Given the description of an element on the screen output the (x, y) to click on. 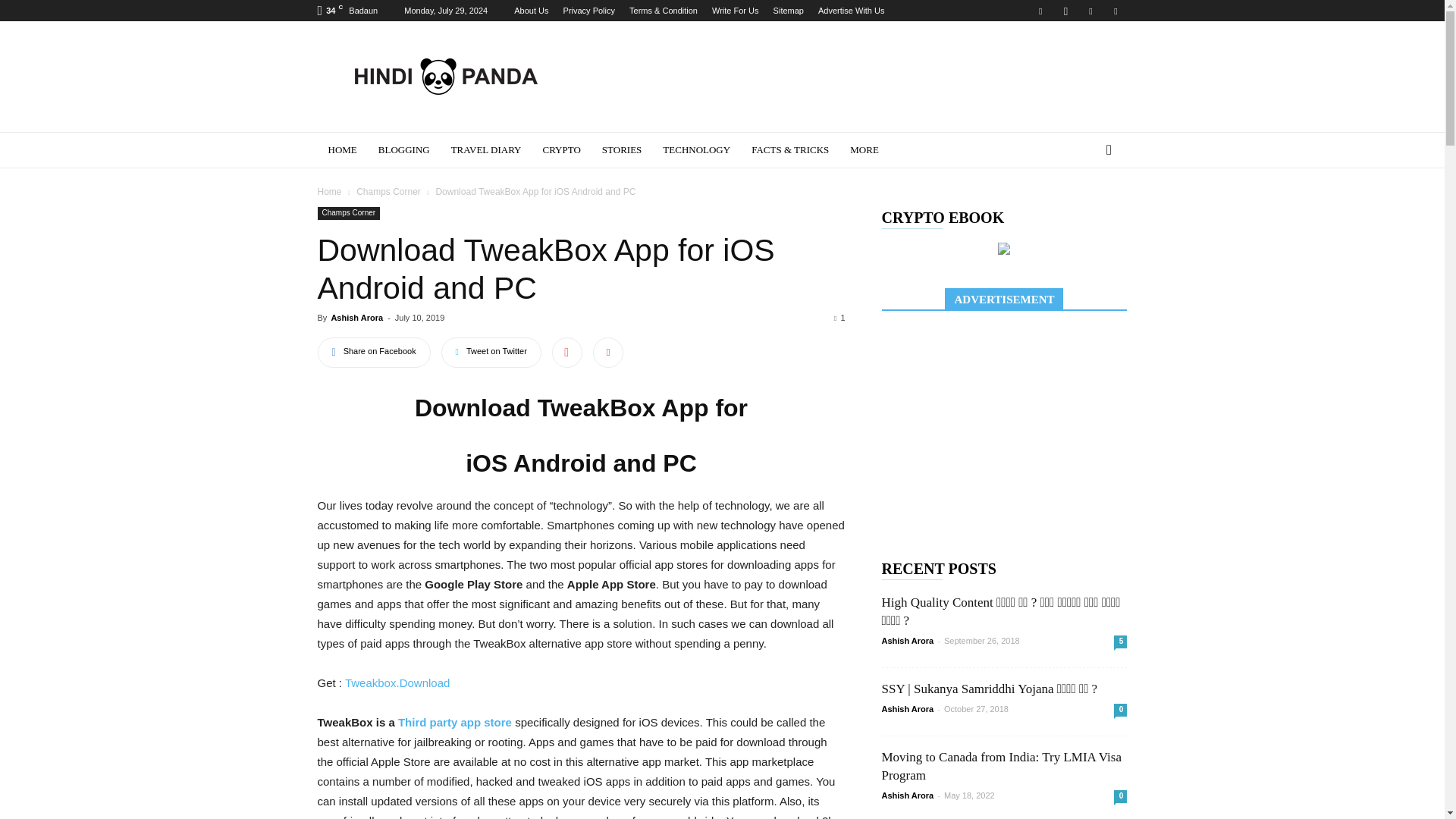
Advertise With Us (850, 10)
Twitter (1090, 10)
Privacy Policy (588, 10)
Sitemap (788, 10)
Youtube (1114, 10)
Write For Us (734, 10)
Facebook (1040, 10)
About Us (530, 10)
Instagram (1065, 10)
